Given the description of an element on the screen output the (x, y) to click on. 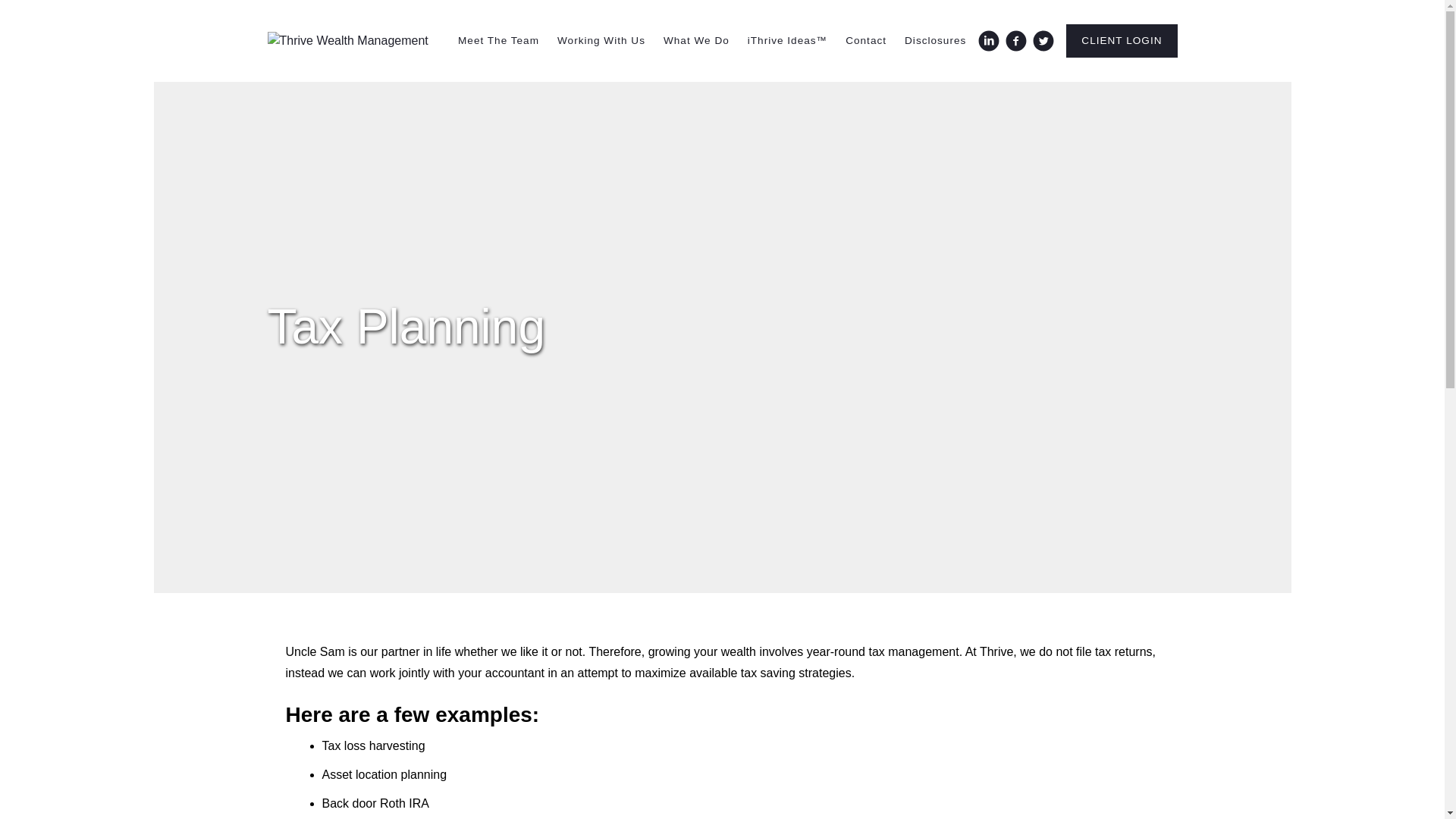
Working With Us (601, 40)
Disclosures (935, 40)
Contact (865, 40)
What We Do (696, 40)
CLIENT LOGIN (1120, 40)
